Given the description of an element on the screen output the (x, y) to click on. 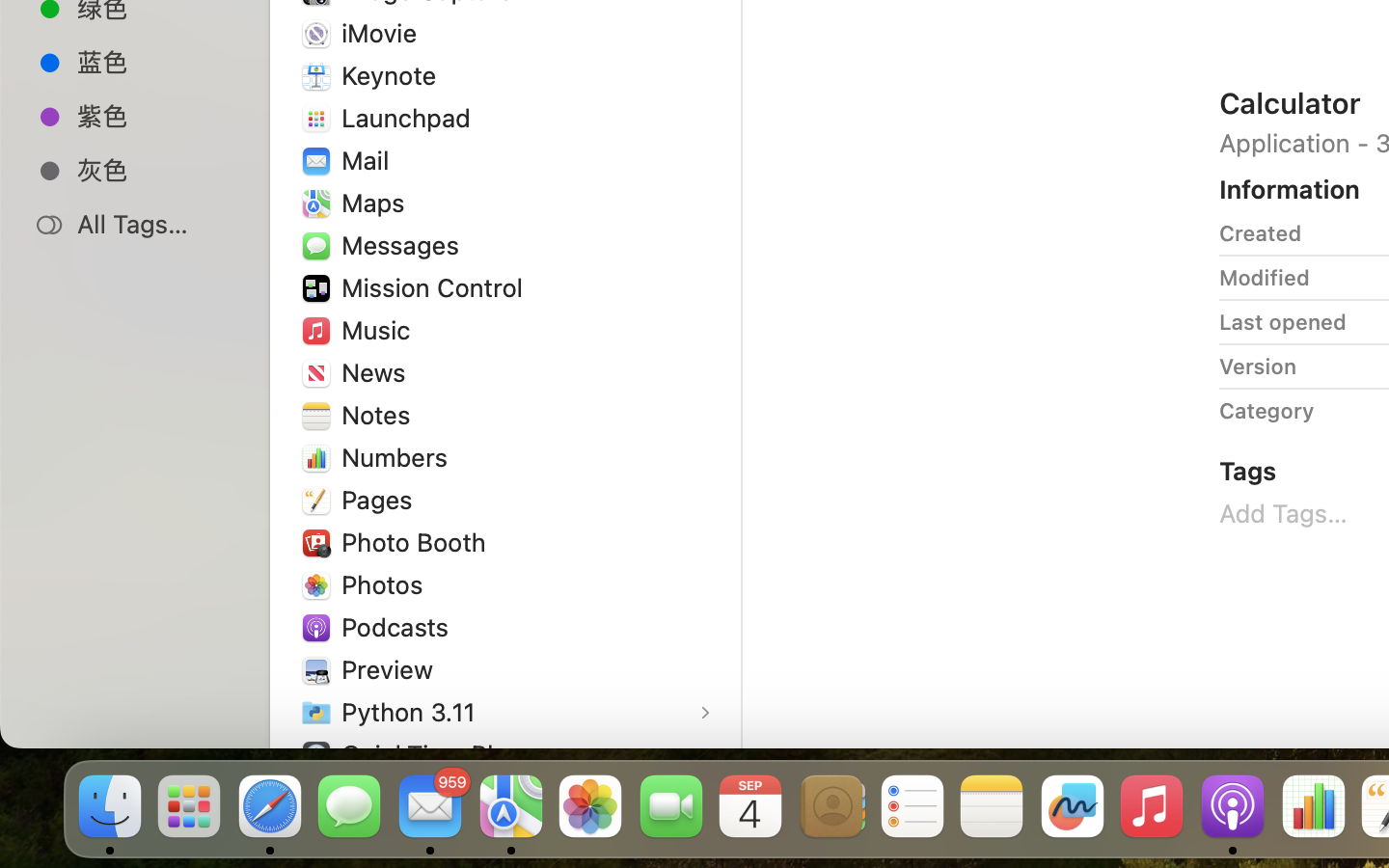
Maps Element type: AXTextField (376, 202)
蓝色 Element type: AXStaticText (155, 61)
Preview Element type: AXTextField (391, 668)
Modified Element type: AXStaticText (1264, 277)
Notes Element type: AXTextField (379, 414)
